Given the description of an element on the screen output the (x, y) to click on. 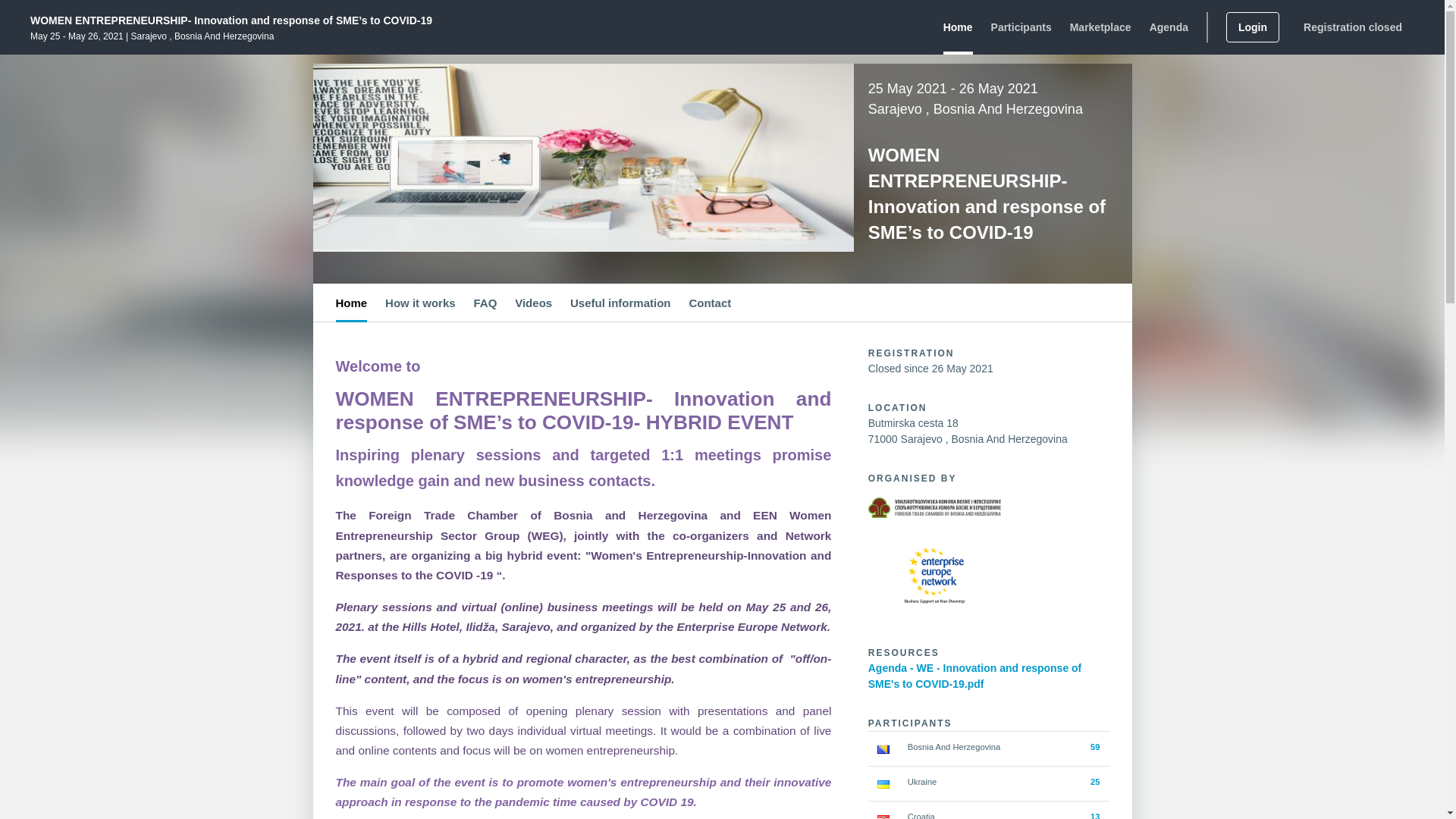
Useful information (620, 301)
Marketplace (1100, 27)
How it works (420, 301)
Participants (1021, 27)
Login (1252, 27)
Skip to main content (40, 18)
13 (1094, 815)
59 (1094, 746)
Contact (709, 301)
25 (1094, 781)
Videos (533, 301)
